Given the description of an element on the screen output the (x, y) to click on. 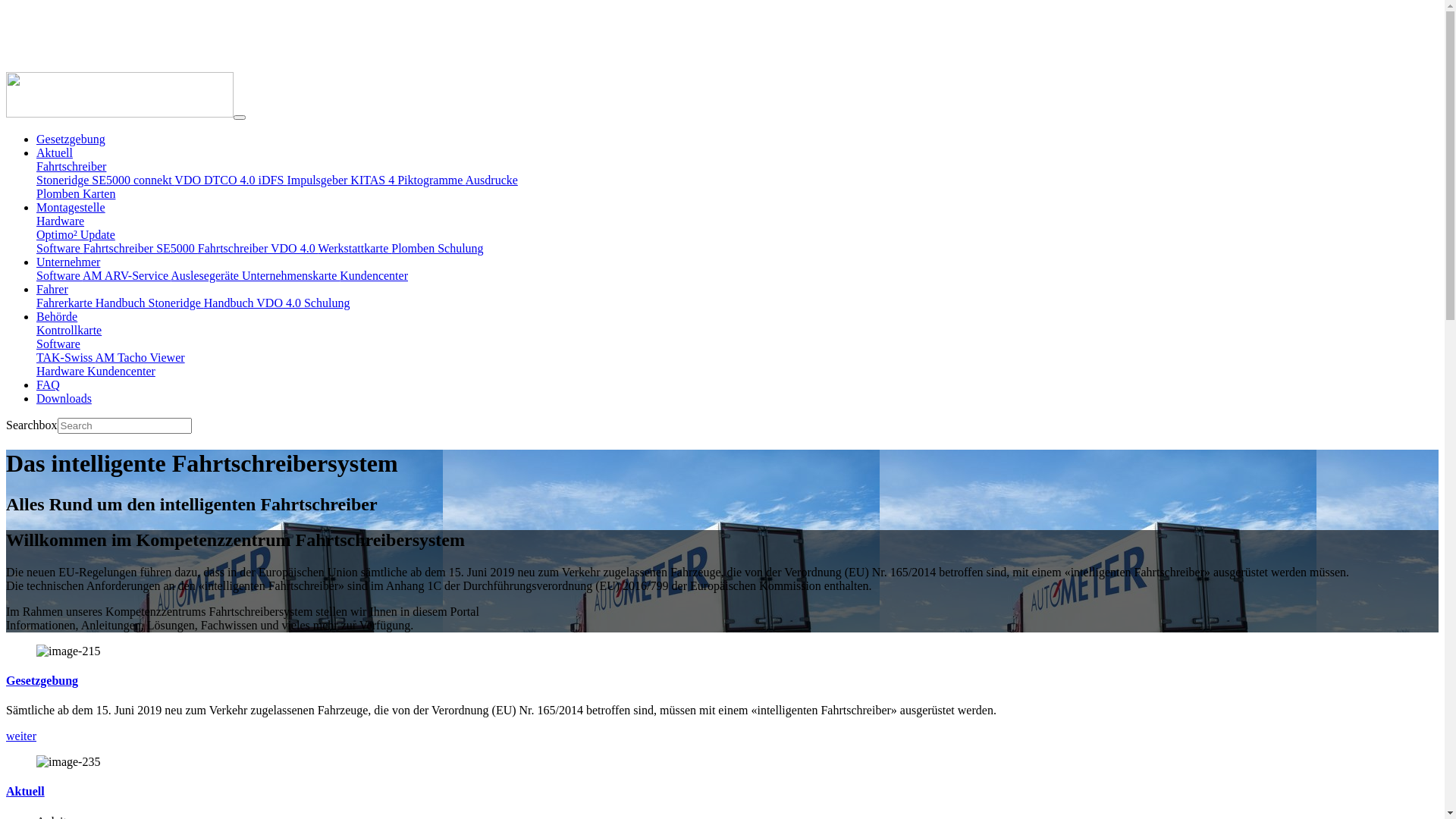
Schulung Element type: text (326, 302)
Handbuch VDO 4.0 Element type: text (253, 302)
VDO DTCO 4.0 iDFS Element type: text (230, 179)
Downloads Element type: text (63, 398)
Schulung Element type: text (460, 247)
Fahrtschreiber VDO 4.0 Element type: text (257, 247)
Stoneridge SE5000 connekt Element type: text (105, 179)
Kundencenter Element type: text (121, 370)
Fahrer Element type: text (52, 288)
AM Tacho Viewer Element type: text (139, 357)
Aktuell Element type: text (25, 790)
FAQ Element type: text (47, 384)
Hardware Element type: text (60, 220)
Handbuch Stoneridge Element type: text (149, 302)
Fahrerkarte Element type: text (65, 302)
Gesetzgebung Element type: text (70, 138)
Software Element type: text (59, 275)
Ausdrucke Element type: text (491, 179)
Software Element type: text (58, 343)
Plomben Element type: text (414, 247)
Plomben Element type: text (59, 193)
AM ARV-Service Element type: text (126, 275)
Gesetzgebung Element type: text (42, 680)
Kundencenter Element type: text (373, 275)
weiter Element type: text (21, 735)
Software Element type: text (59, 247)
Karten Element type: text (99, 193)
Aktuell Element type: text (54, 152)
TAK-Swiss Element type: text (65, 357)
Piktogramme Element type: text (430, 179)
Unternehmer Element type: text (68, 261)
Unternehmenskarte Element type: text (290, 275)
Kontrollkarte Element type: text (68, 329)
Impulsgeber KITAS 4 Element type: text (341, 179)
Werkstattkarte Element type: text (354, 247)
Fahrtschreiber Element type: text (71, 166)
Hardware Element type: text (61, 370)
Montagestelle Element type: text (70, 206)
Fahrtschreiber SE5000 Element type: text (140, 247)
